Given the description of an element on the screen output the (x, y) to click on. 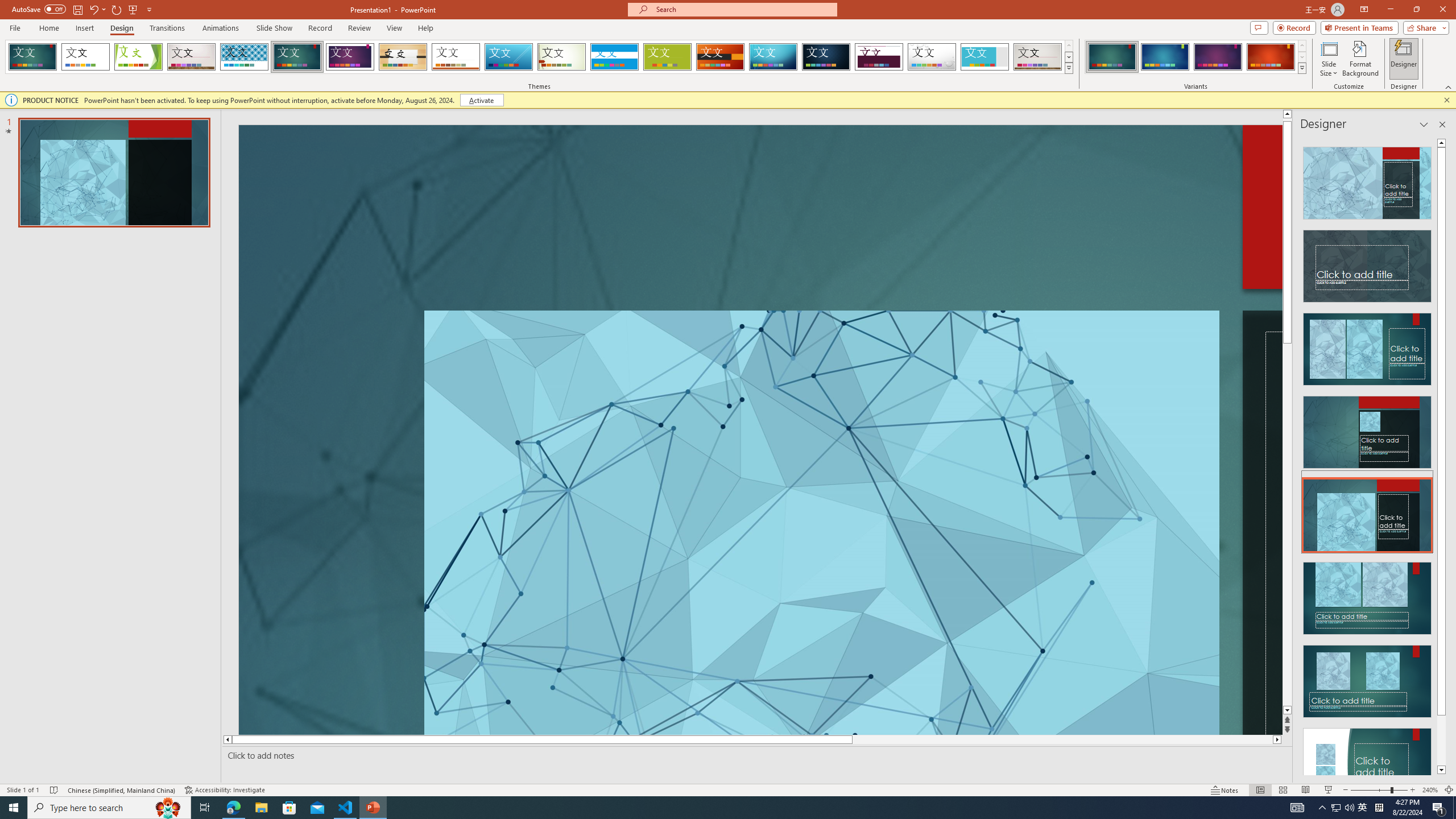
Activate (481, 100)
Basis (667, 56)
Ion Variant 4 (1270, 56)
